Given the description of an element on the screen output the (x, y) to click on. 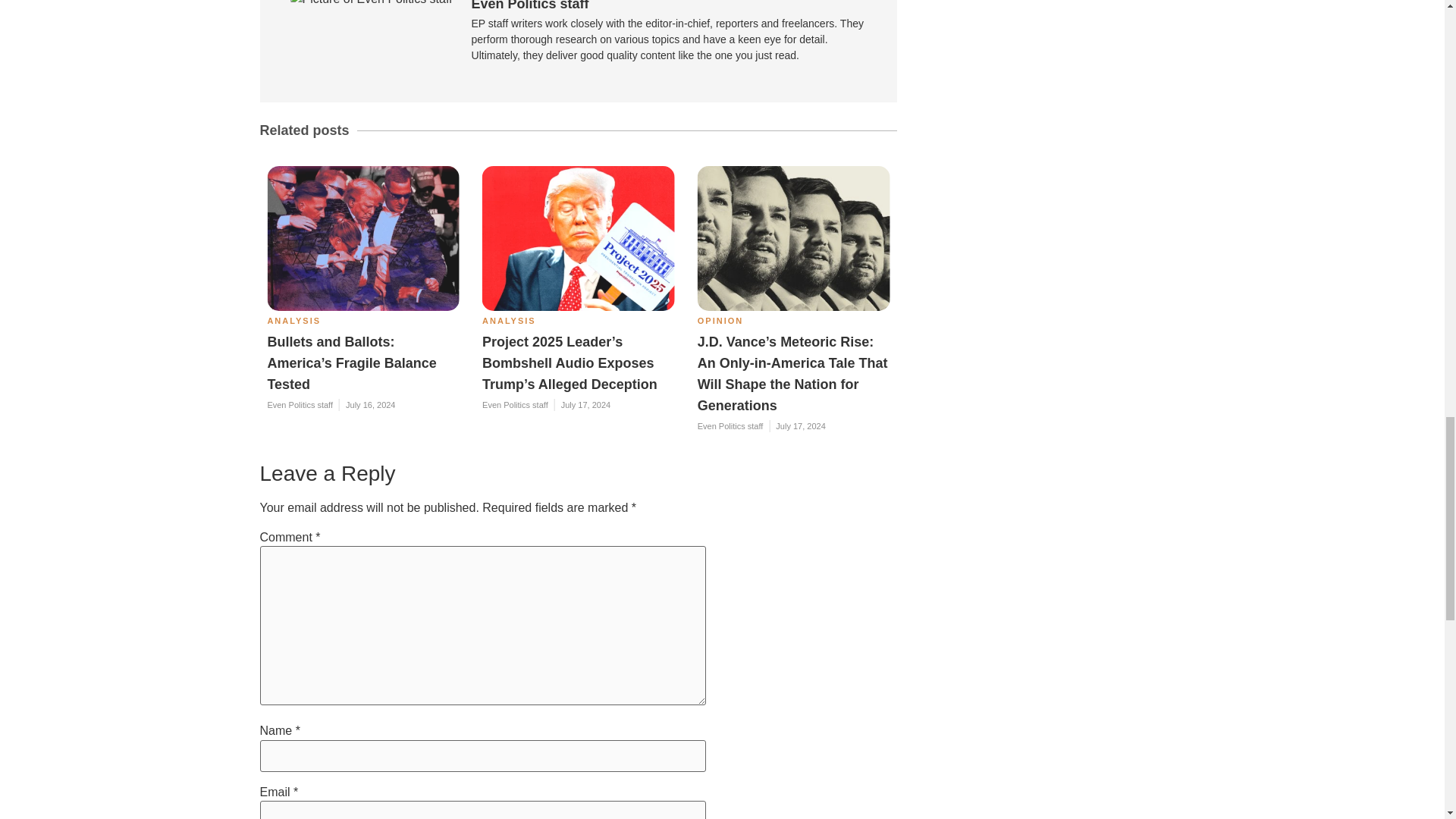
The Heritage Foundation (578, 238)
attempted assassination of donald trump1 (363, 238)
J.D. Vance (793, 238)
